Given the description of an element on the screen output the (x, y) to click on. 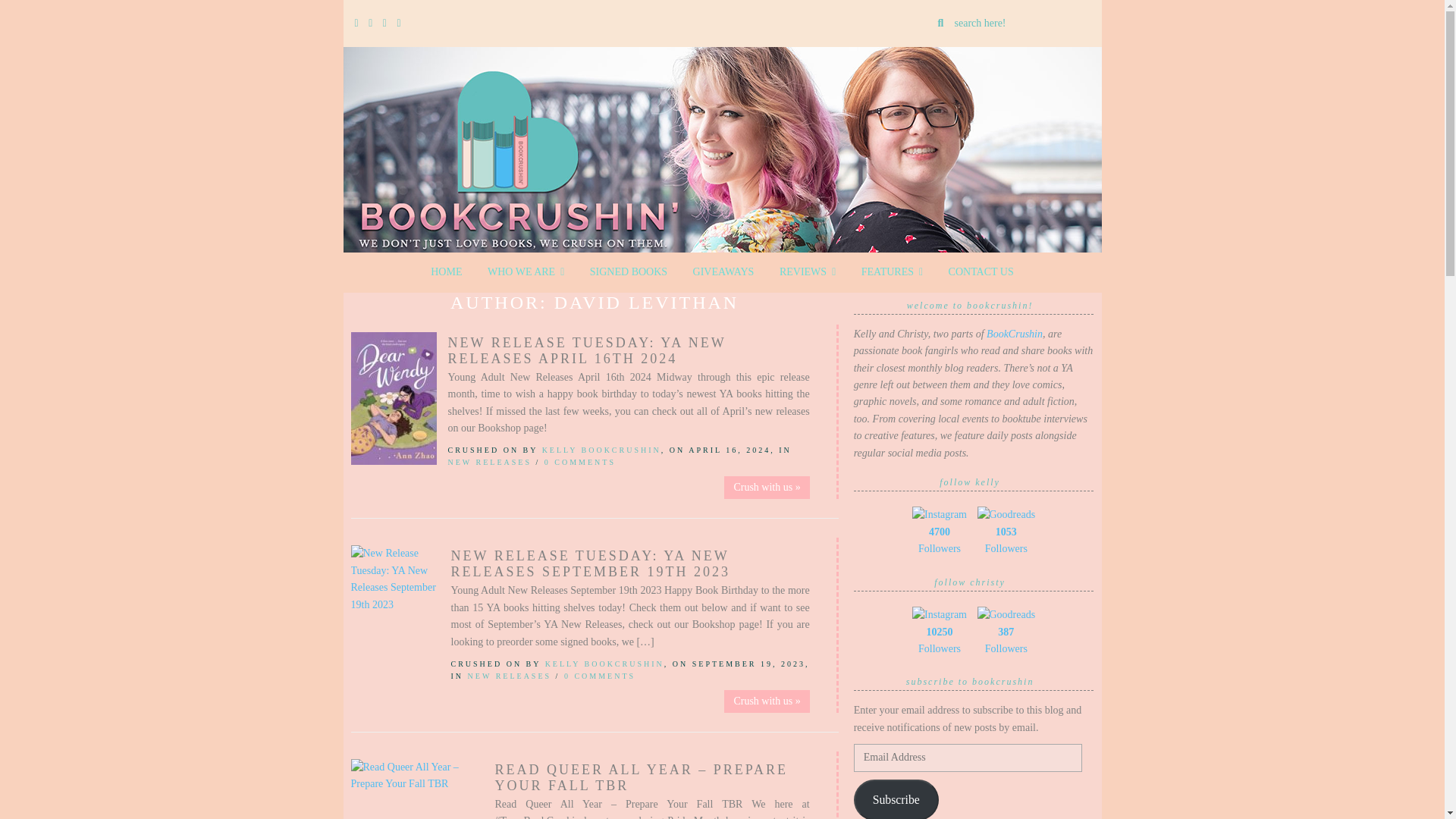
KELLY BOOKCRUSHIN (601, 449)
FEATURES   (892, 271)
GIVEAWAYS (723, 271)
HOME (446, 271)
0 COMMENTS (599, 675)
CONTACT US (981, 271)
WHO WE ARE   (525, 271)
Twitter (358, 23)
KELLY BOOKCRUSHIN (603, 664)
0 COMMENTS (579, 461)
View all posts in New Releases (488, 461)
NEW RELEASE TUESDAY: YA NEW RELEASES SEPTEMBER 19TH 2023 (589, 563)
View all posts in New Releases (509, 675)
Instagram (384, 23)
Cebook (370, 23)
